Given the description of an element on the screen output the (x, y) to click on. 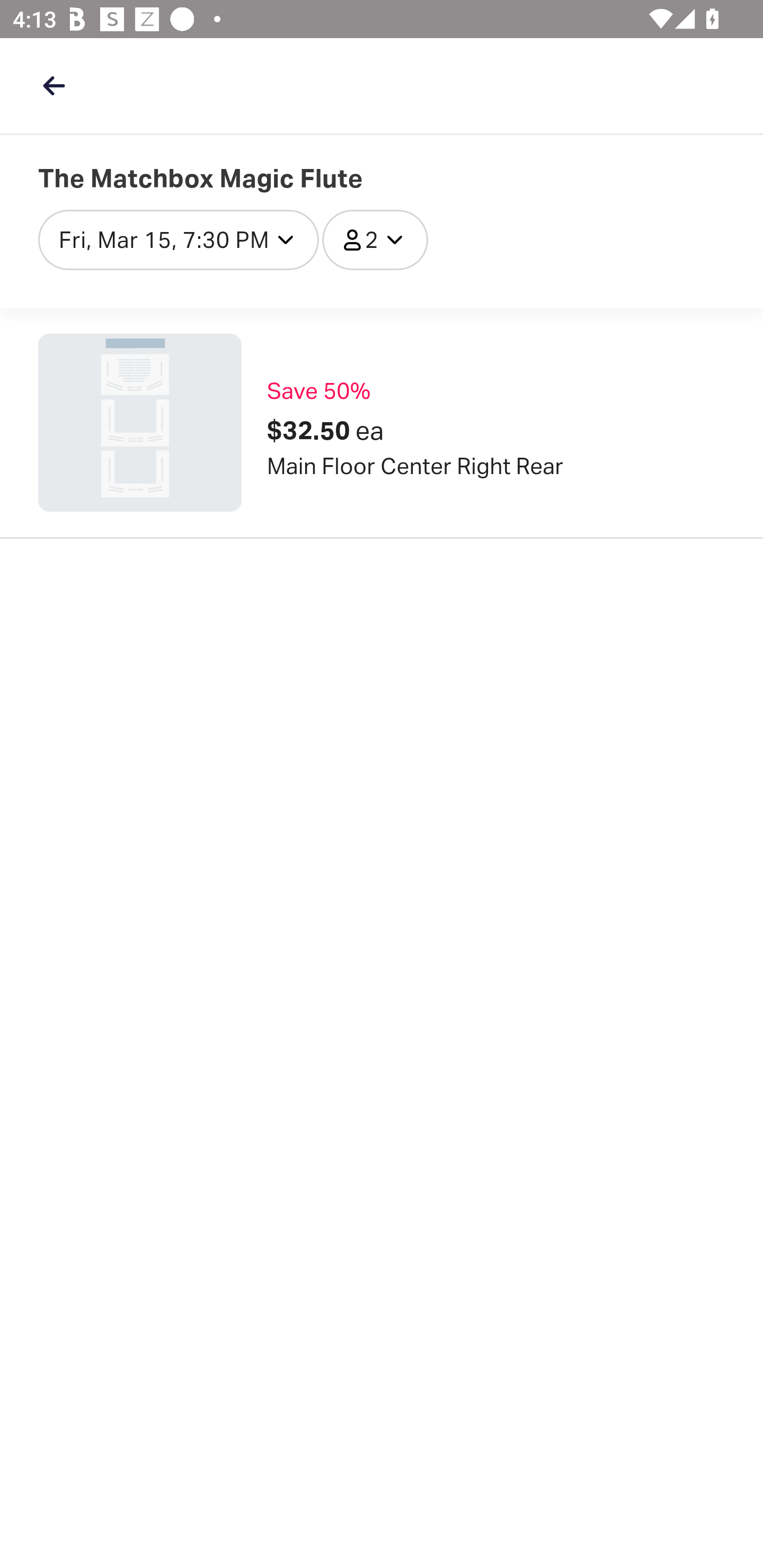
back button (53, 85)
Fri, Mar 15, 7:30 PM (178, 238)
2 (374, 238)
Save 50% $32.50ea Main Floor Center Right Rear (381, 423)
